Given the description of an element on the screen output the (x, y) to click on. 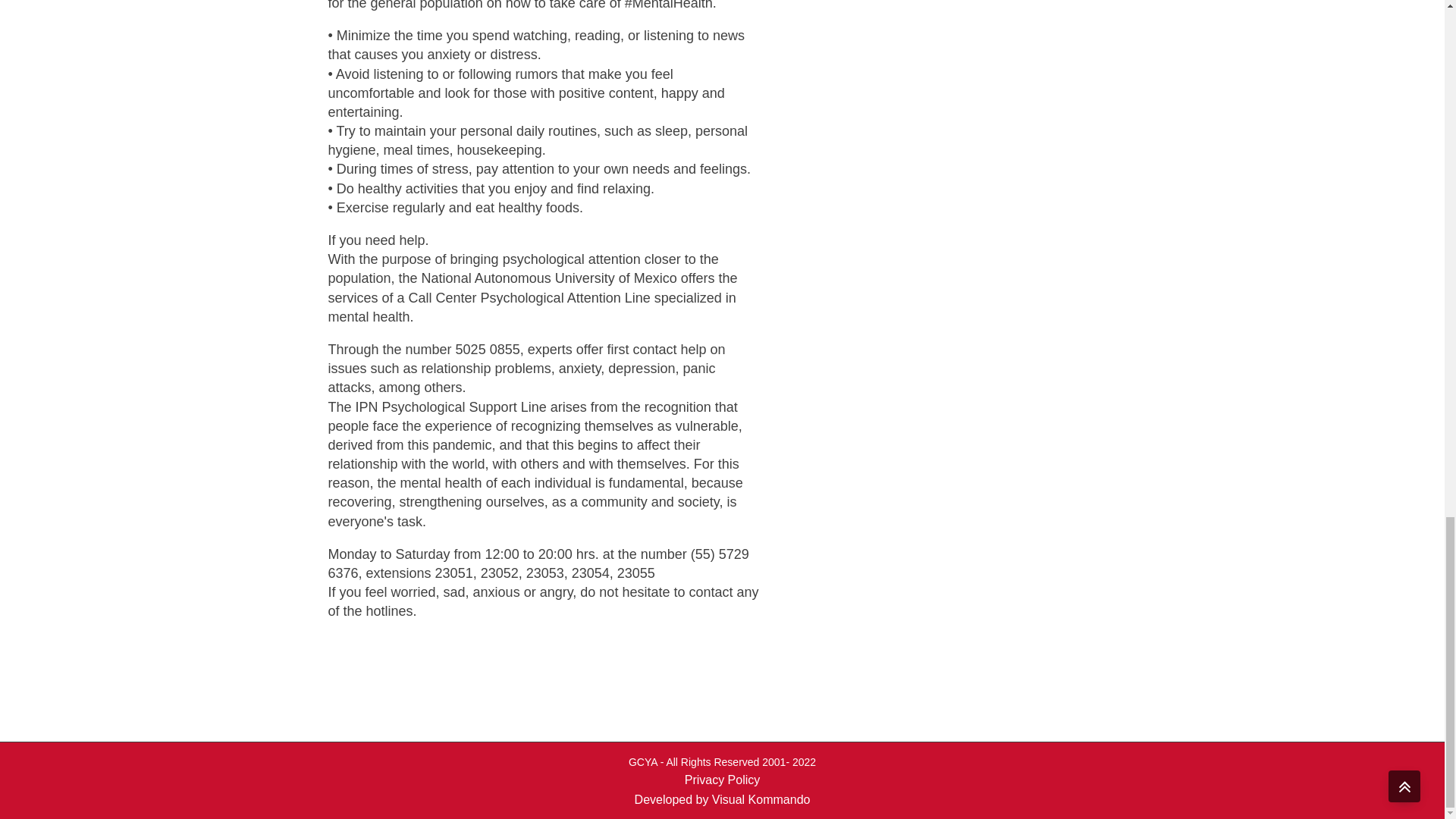
Developed by Visual Kommando (722, 799)
Privacy Policy (722, 780)
